Given the description of an element on the screen output the (x, y) to click on. 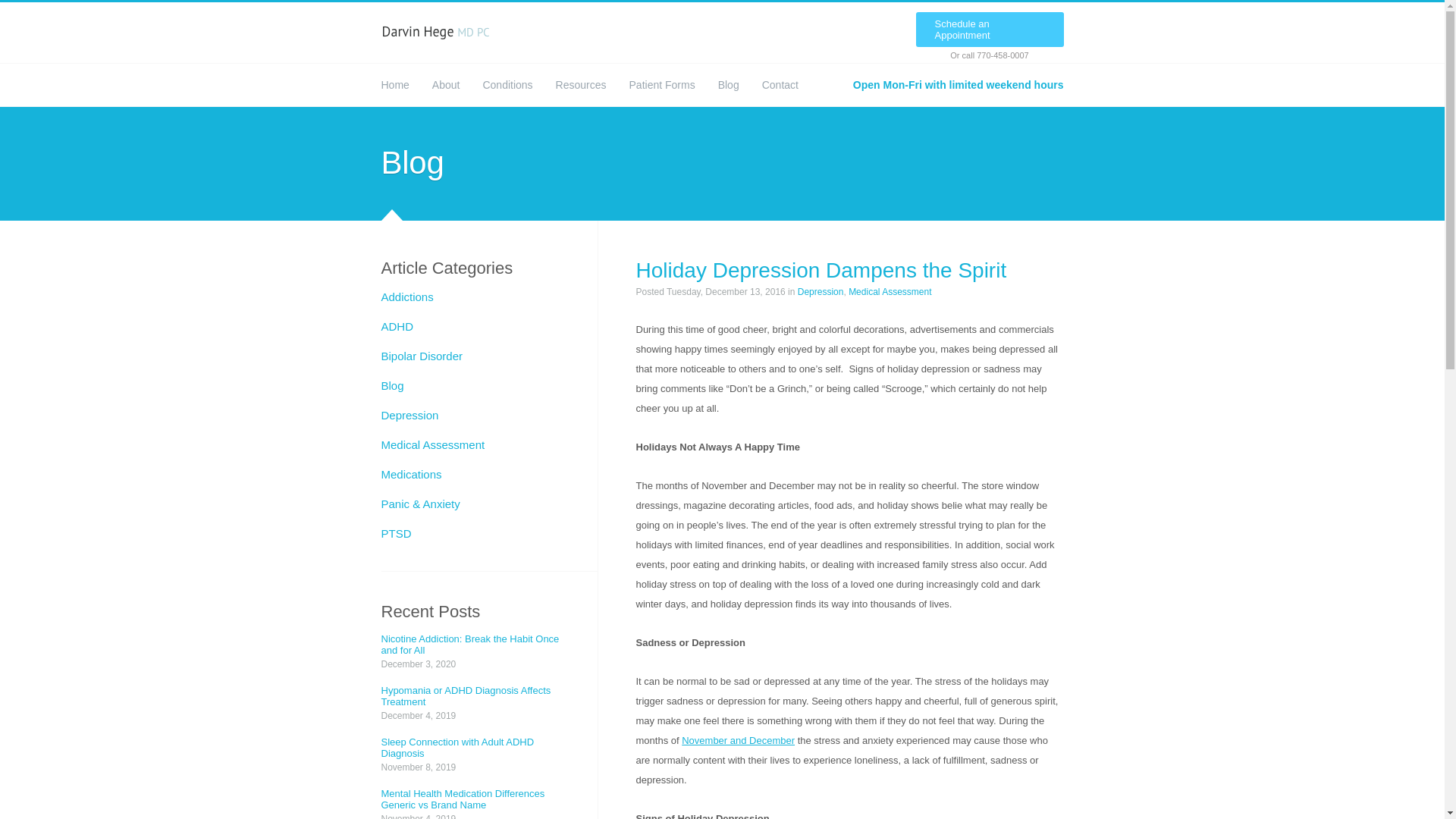
Patient Forms (661, 84)
Sleep Connection with Adult ADHD Diagnosis (469, 747)
Contact (779, 84)
Mental Health Medication Differences Generic vs Brand Name (469, 798)
Blog (391, 385)
Medications (410, 473)
ADHD (396, 326)
Holiday Depression Dampens the Spirit (820, 269)
Addictions (406, 296)
Home (394, 84)
